Given the description of an element on the screen output the (x, y) to click on. 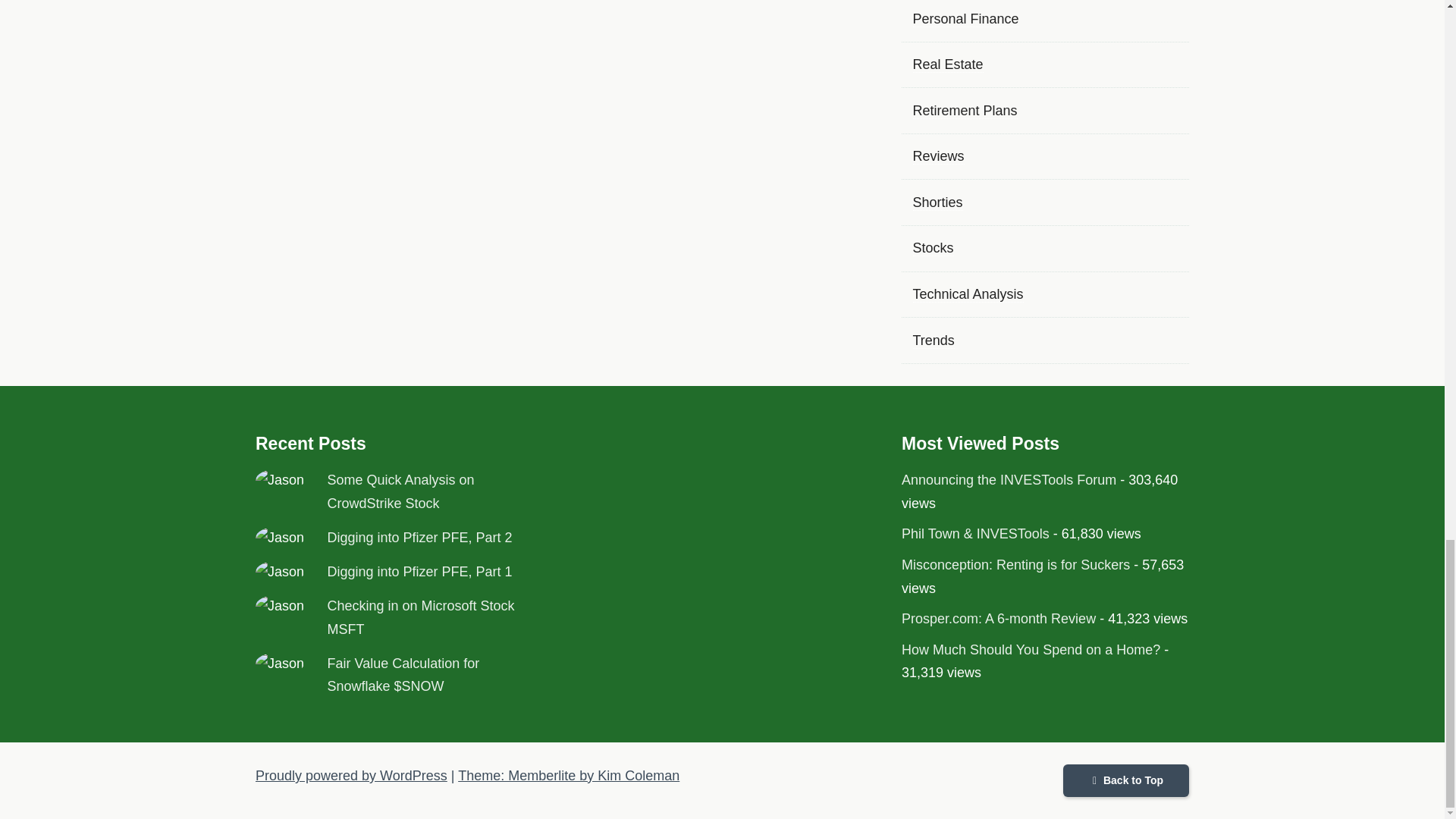
Misconception: Renting is for Suckers (1015, 564)
Announcing the INVESTools Forum (1008, 479)
How Much Should You Spend on a Home? (1030, 649)
Prosper.com: A 6-month Review (998, 618)
